Given the description of an element on the screen output the (x, y) to click on. 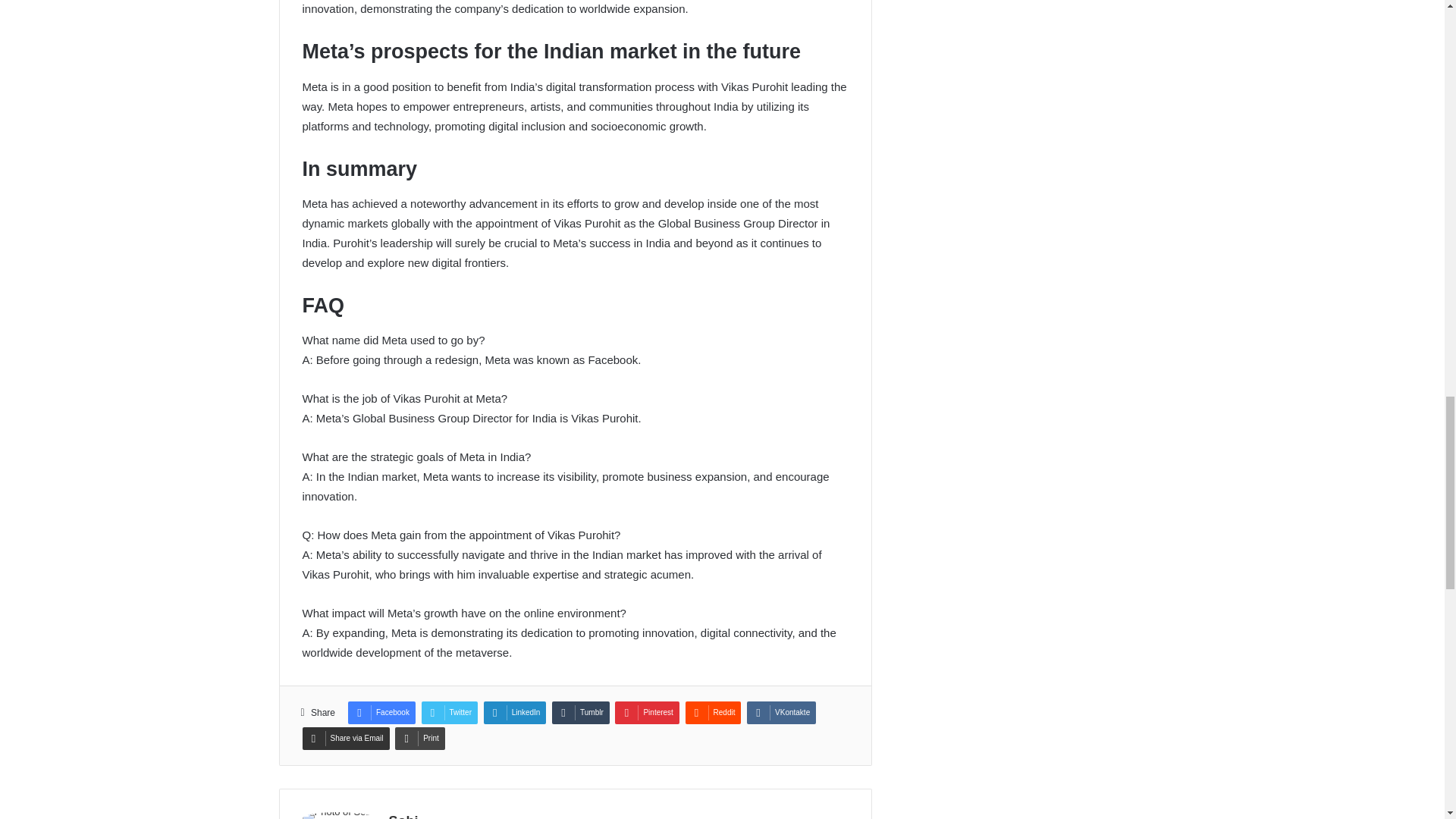
Facebook (380, 712)
Twitter (449, 712)
LinkedIn (515, 712)
